Given the description of an element on the screen output the (x, y) to click on. 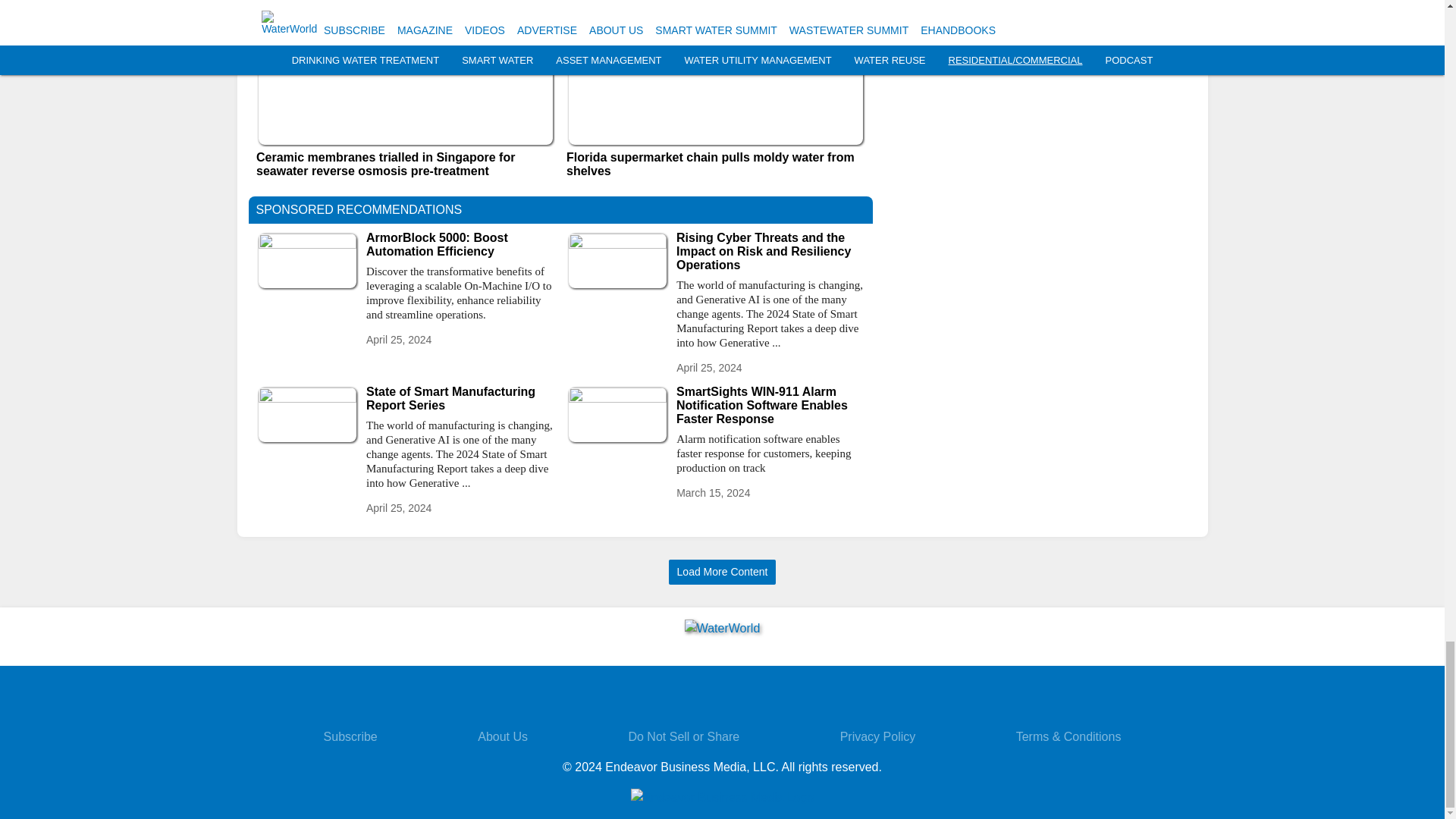
Florida supermarket chain pulls moldy water from shelves (715, 163)
ArmorBlock 5000: Boost Automation Efficiency (459, 244)
